Given the description of an element on the screen output the (x, y) to click on. 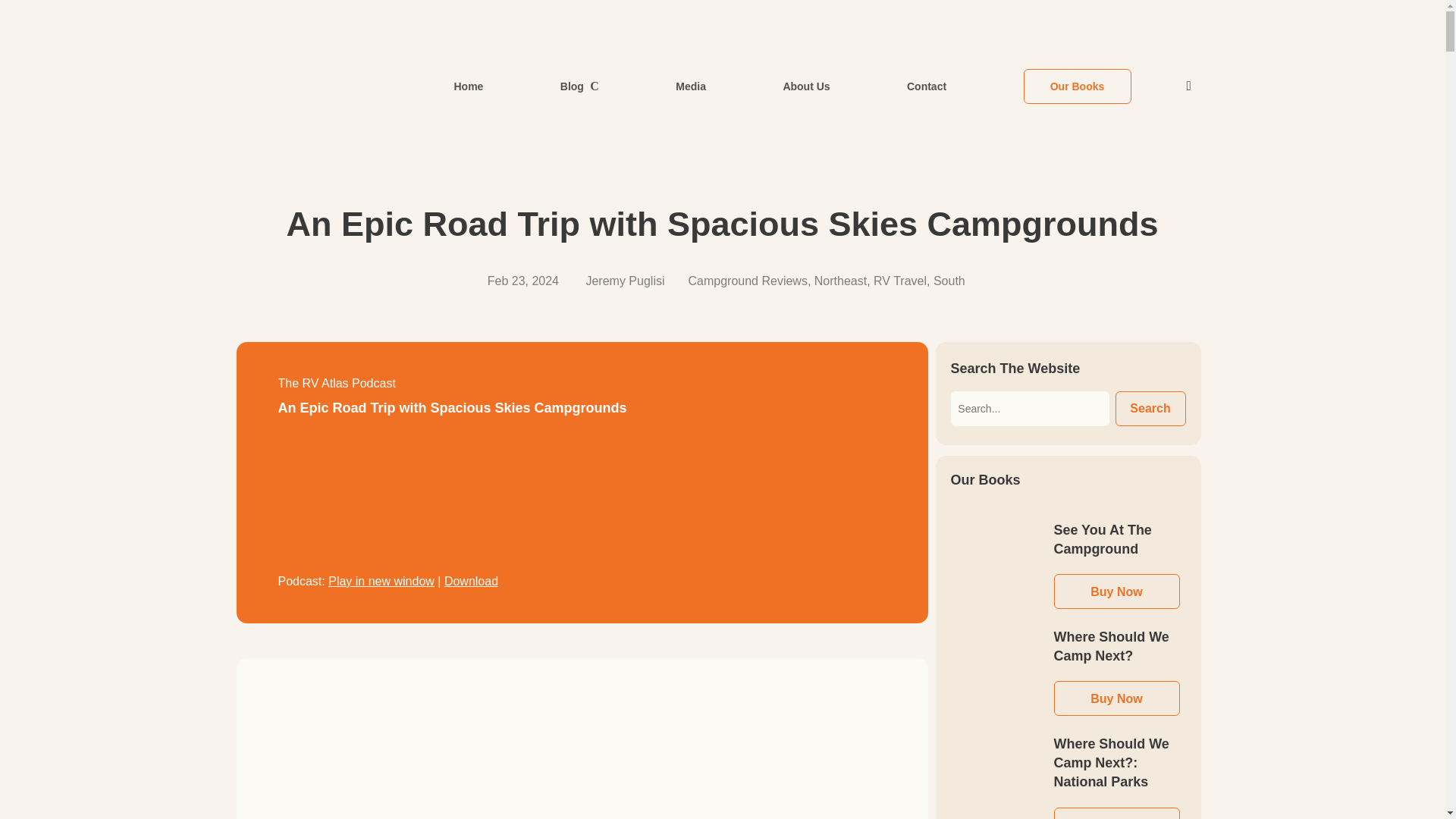
Northeast (839, 280)
Play in new window (381, 581)
RV Travel (899, 280)
Blubrry Podcast Player (581, 498)
Posts by Jeremy Puglisi (624, 280)
South (949, 280)
Our Books (1077, 85)
Campground Reviews (748, 280)
Download (470, 581)
Download (470, 581)
Play in new window (381, 581)
Search (1150, 408)
Jeremy Puglisi (624, 280)
